Given the description of an element on the screen output the (x, y) to click on. 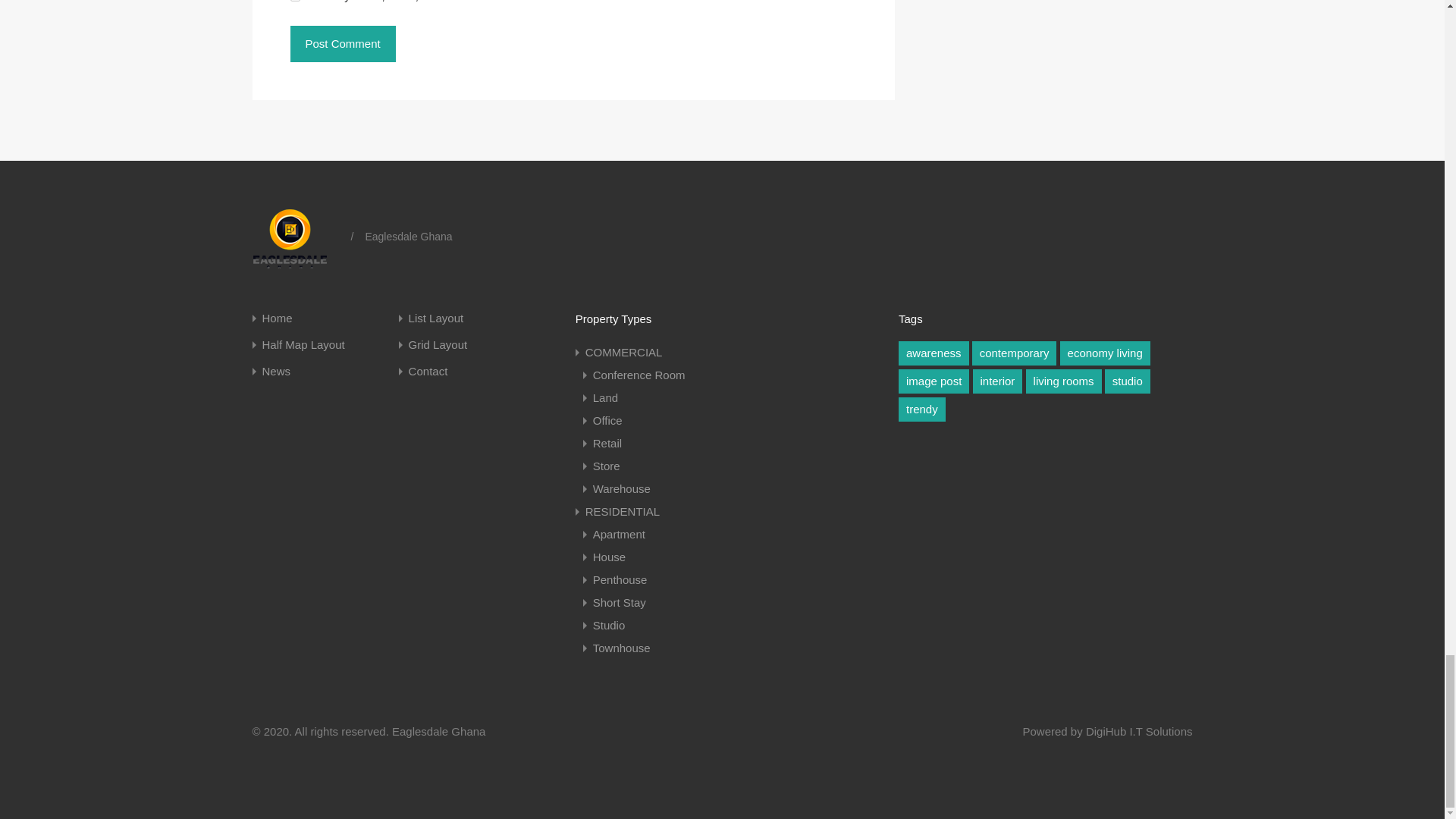
Eaglesdale Ghana (295, 236)
Post Comment (341, 43)
